Given the description of an element on the screen output the (x, y) to click on. 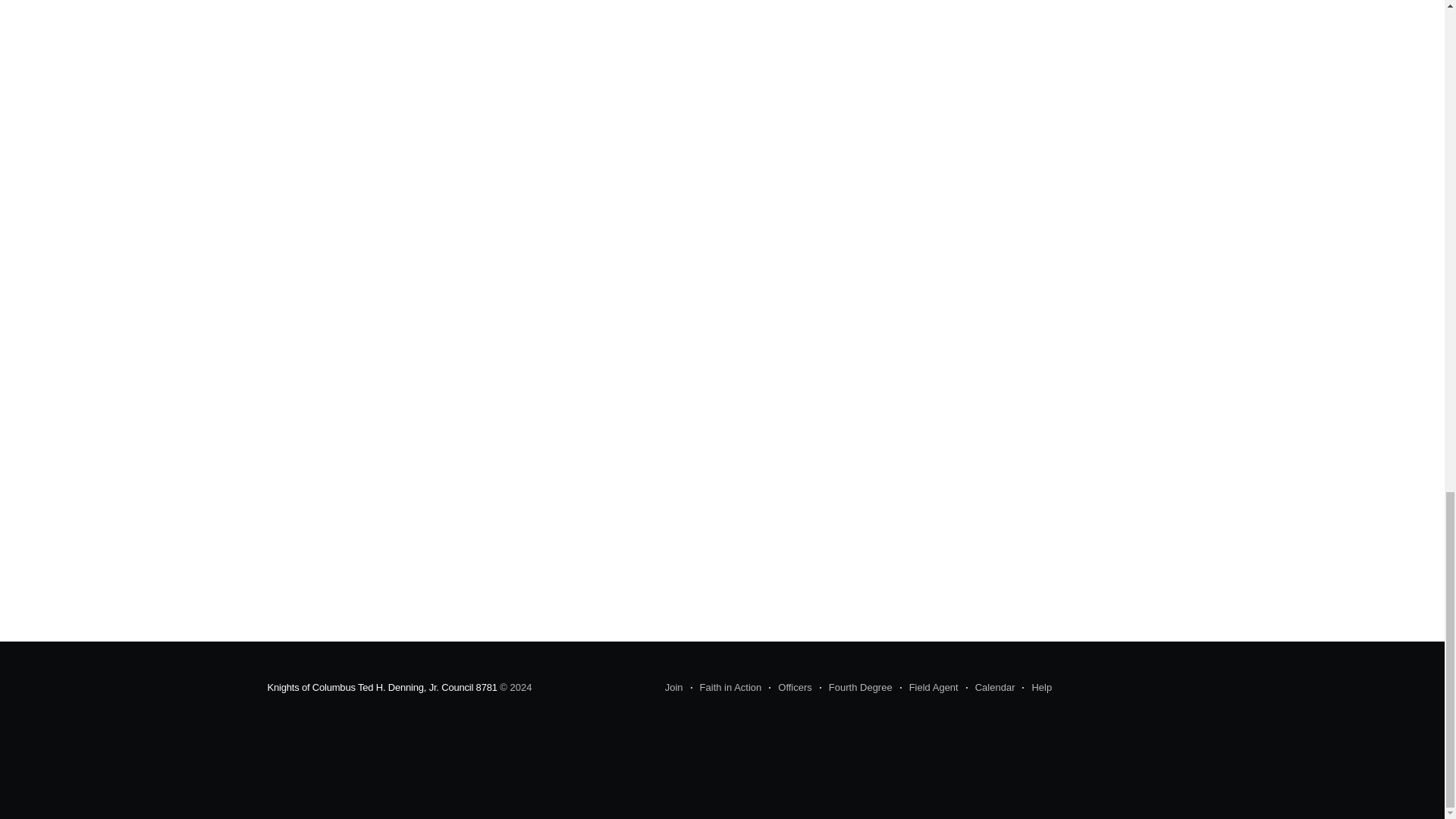
Faith in Action (725, 687)
Fourth Degree (855, 687)
Calendar (990, 687)
Join (673, 687)
Knights of Columbus Ted H. Denning, Jr. Council 8781 (381, 686)
Officers (790, 687)
Help (1036, 687)
Field Agent (928, 687)
